Given the description of an element on the screen output the (x, y) to click on. 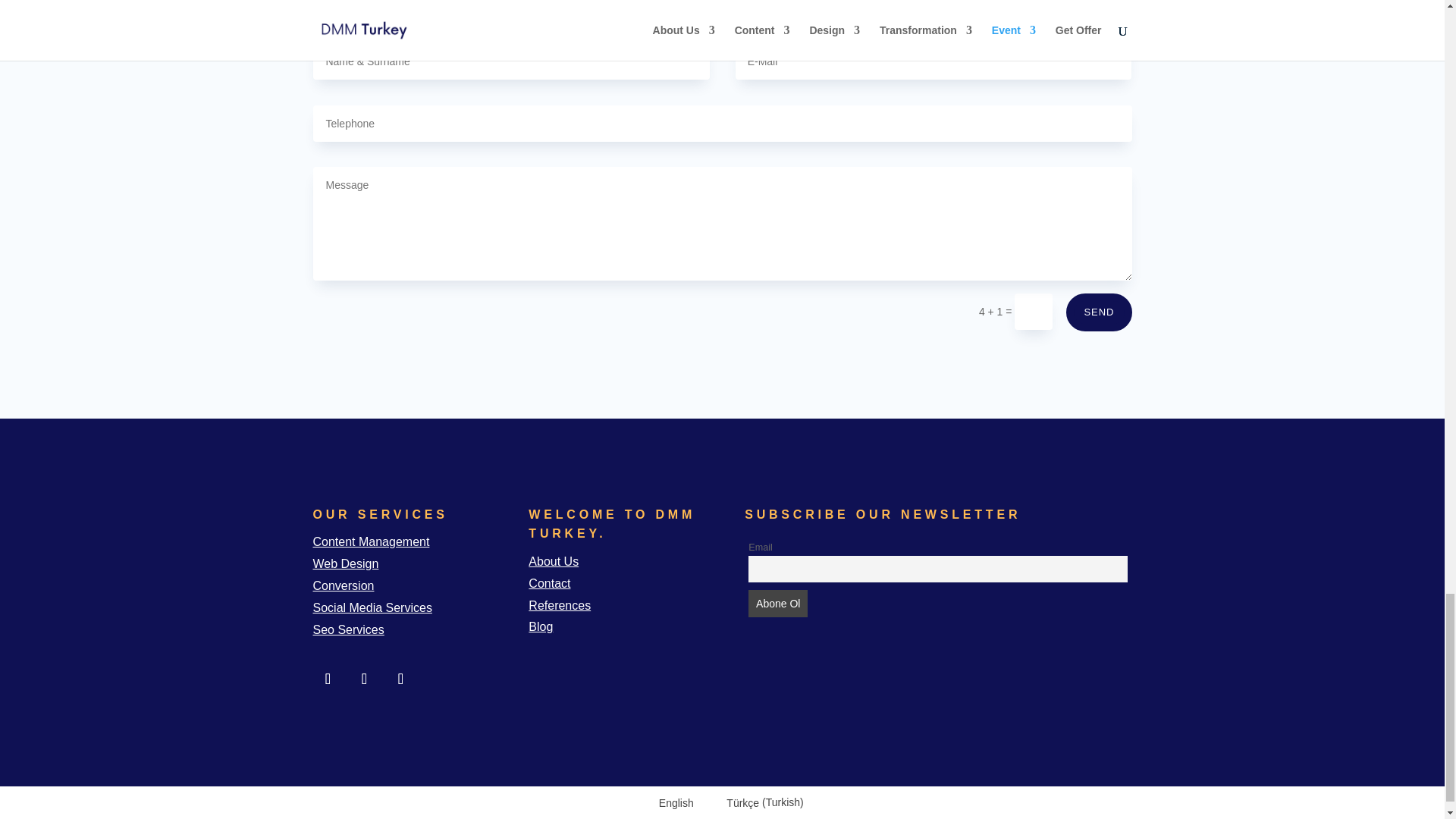
Follow on Instagram (327, 678)
Follow on LinkedIn (363, 678)
Abone Ol (778, 603)
Follow on X (399, 678)
Only numbers allowed.Maximum length: 19 characters. (722, 123)
